Given the description of an element on the screen output the (x, y) to click on. 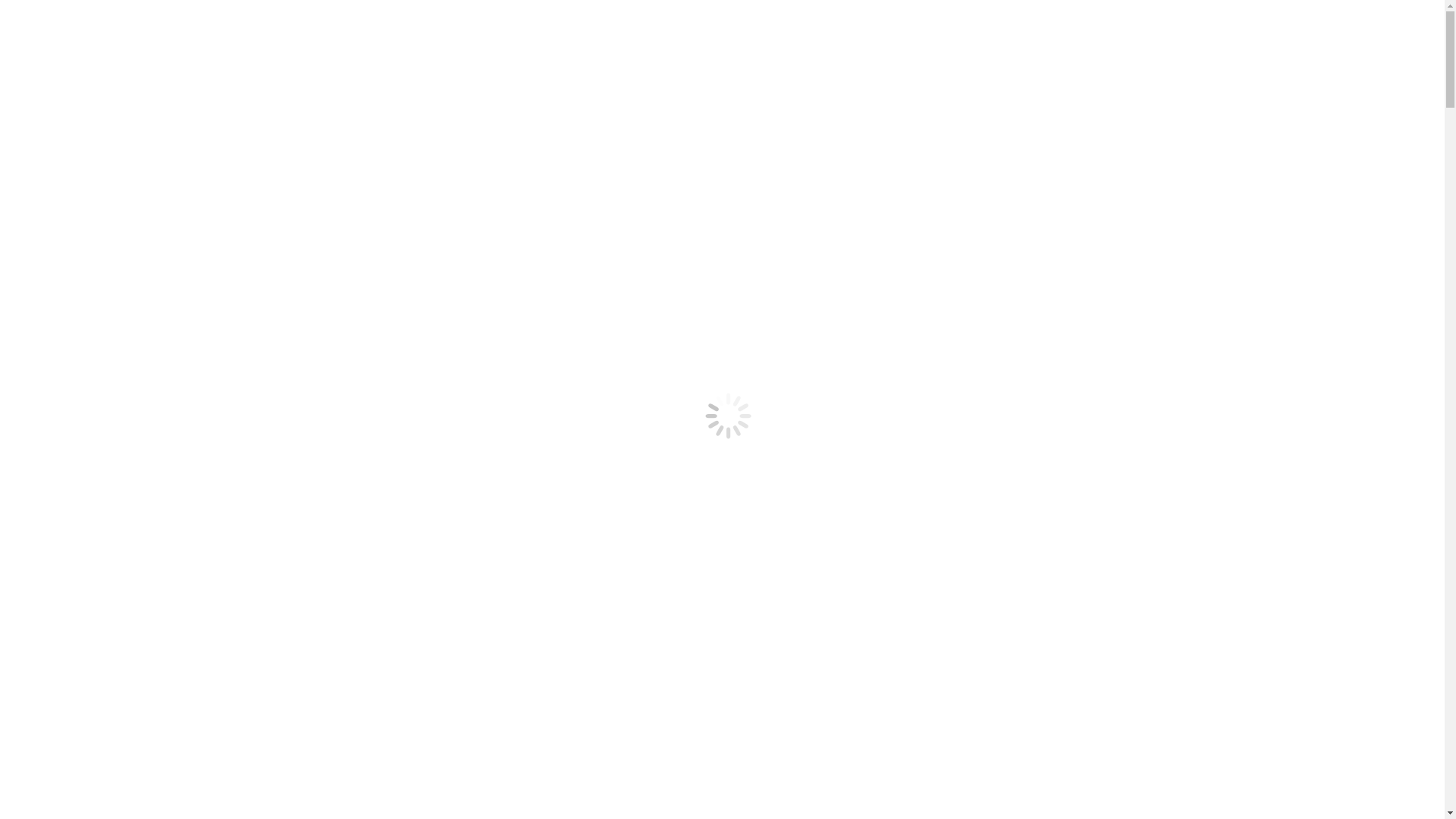
Apply Now Element type: text (250, 251)
Apply Now Element type: text (328, 172)
Online Courses Element type: text (73, 374)
About Us Element type: text (59, 468)
Skip to content Element type: text (42, 12)
Testimonials Element type: text (97, 319)
MT Newsletter Element type: text (72, 401)
FAQ Element type: text (78, 523)
Contact Element type: text (55, 415)
Our Team Element type: text (90, 347)
HOME Element type: text (54, 441)
Online Courses Element type: text (73, 536)
Meet Marcus Element type: text (98, 333)
Contact Us Element type: text (55, 172)
Contact Us Element type: text (58, 211)
Go to course Element type: text (67, 454)
Go to course Element type: text (67, 292)
Our Team Element type: text (90, 509)
My Account Element type: text (229, 166)
HOME Element type: text (54, 279)
Course Log In Element type: text (43, 252)
My Account Element type: text (125, 245)
Contact Us Element type: text (58, 125)
About Us Element type: text (59, 306)
Course Log In Element type: text (148, 173)
Meet Marcus Element type: text (98, 495)
FAQ Element type: text (78, 360)
Contact Element type: text (55, 577)
eBooks Element type: text (54, 388)
Testimonials Element type: text (97, 482)
MT Newsletter Element type: text (72, 564)
eBooks Element type: text (54, 550)
